Given the description of an element on the screen output the (x, y) to click on. 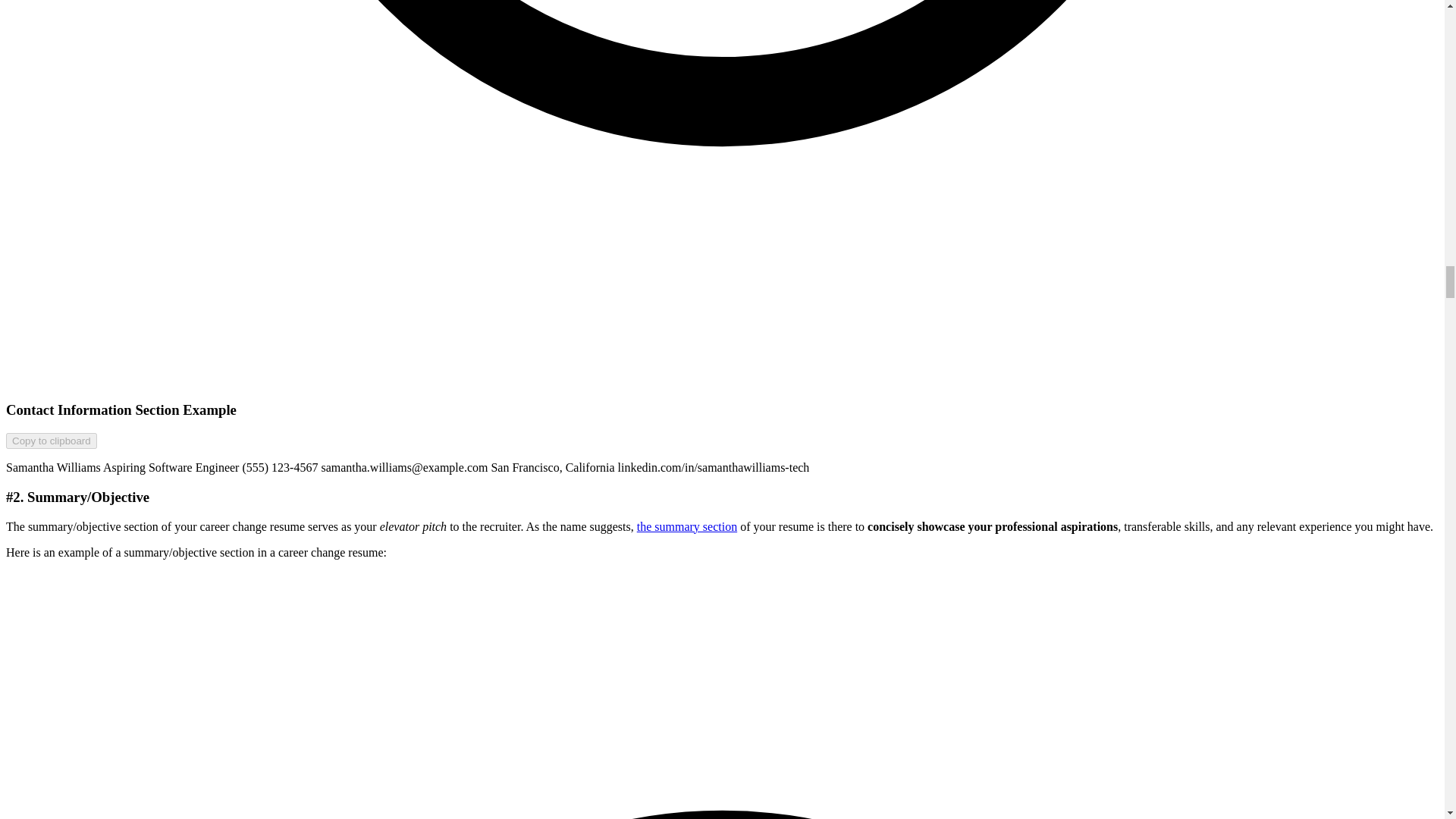
Copy to clipboard (51, 440)
the summary section (686, 526)
